Given the description of an element on the screen output the (x, y) to click on. 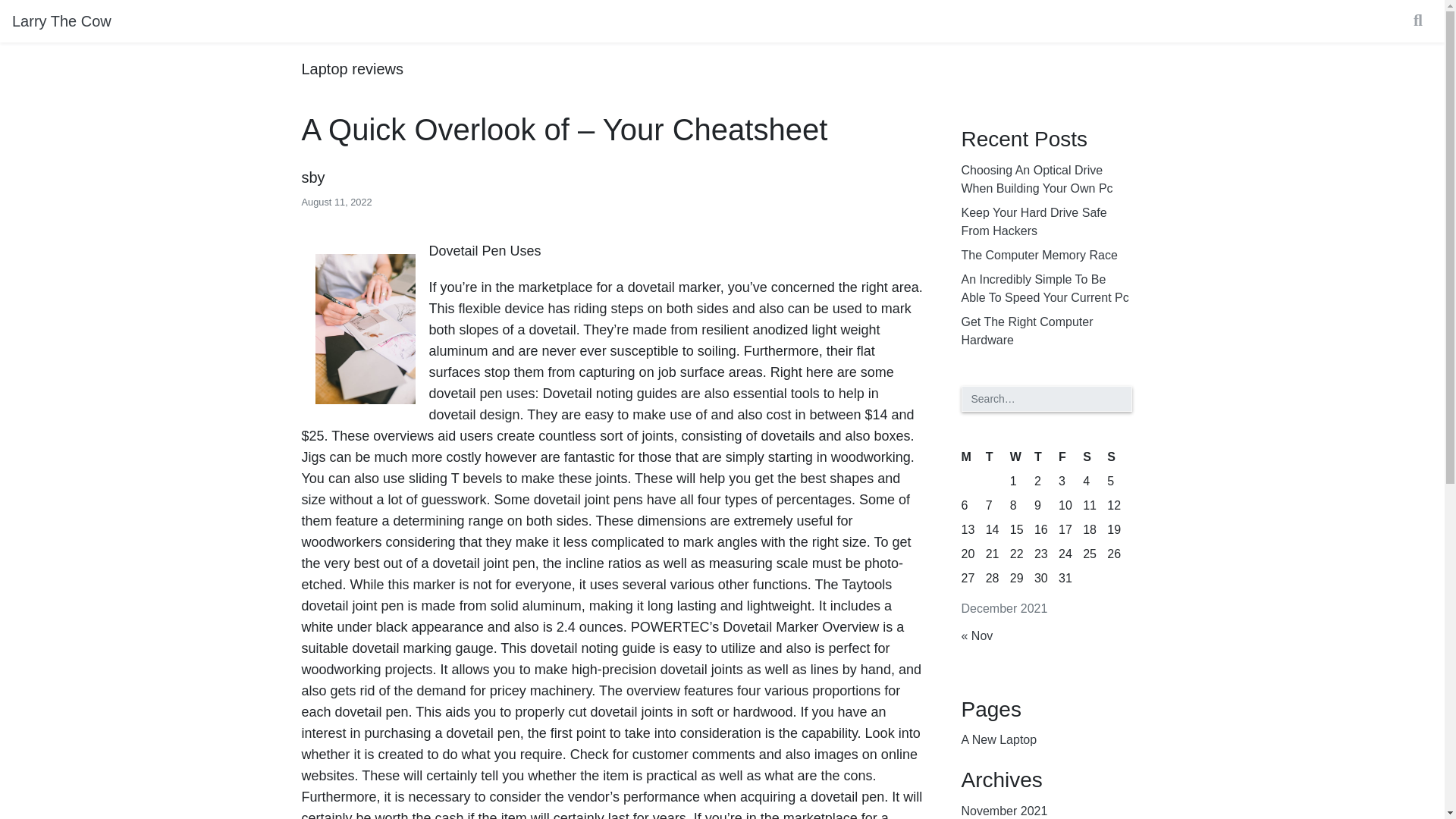
Larry The Cow (61, 20)
November 2021 (1004, 809)
Monday (972, 457)
Tuesday (997, 457)
Saturday (1094, 457)
Thursday (1045, 457)
Friday (1070, 457)
Get The Right Computer Hardware (1046, 331)
An Incredibly Simple To Be Able To Speed Your Current Pc (1046, 288)
A New Laptop (998, 740)
The Computer Memory Race (1039, 255)
Choosing An Optical Drive When Building Your Own Pc (1046, 179)
Larry The Cow (61, 20)
Wednesday (1021, 457)
Sunday (1118, 457)
